Given the description of an element on the screen output the (x, y) to click on. 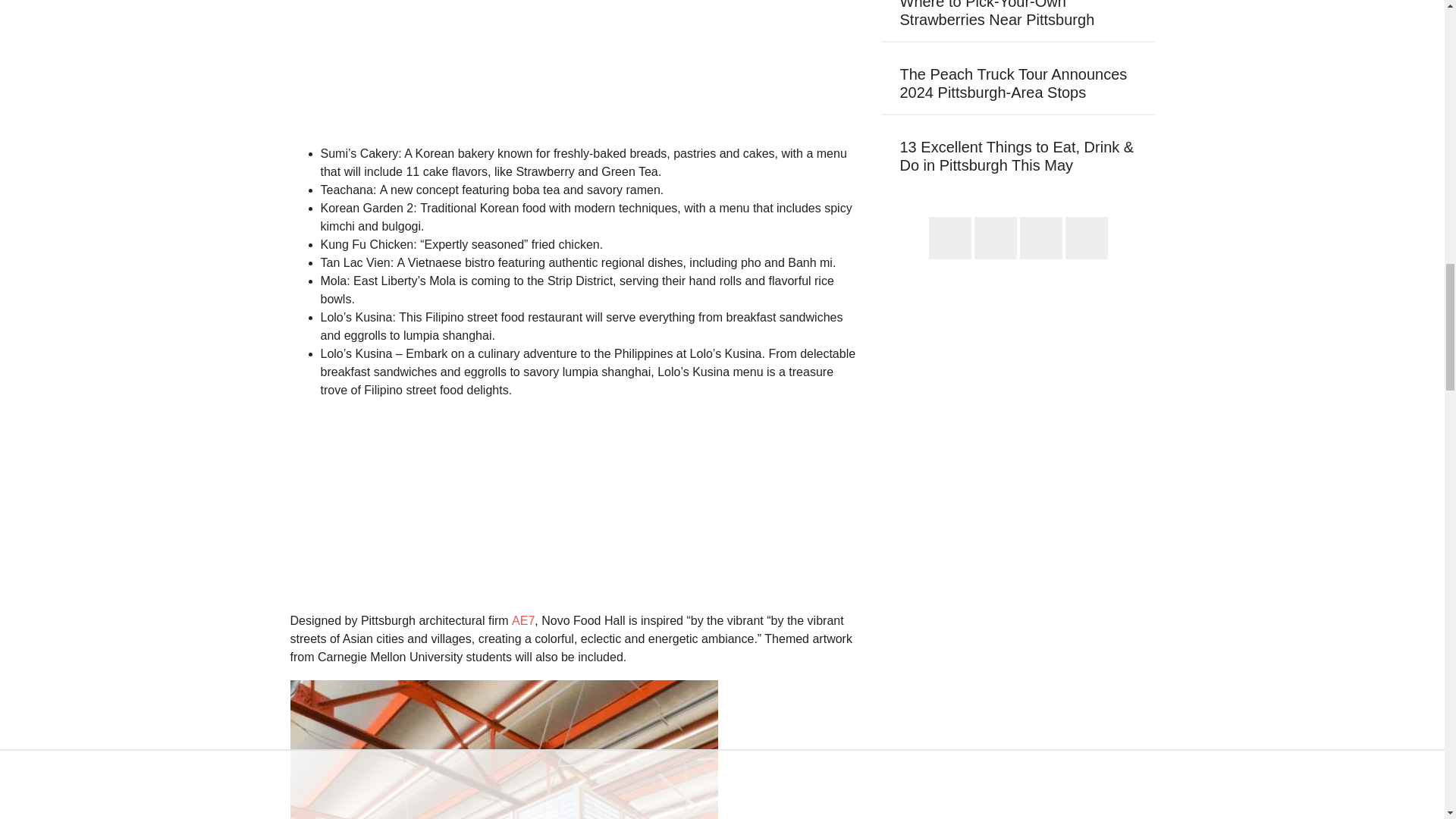
AE7 (523, 620)
